Given the description of an element on the screen output the (x, y) to click on. 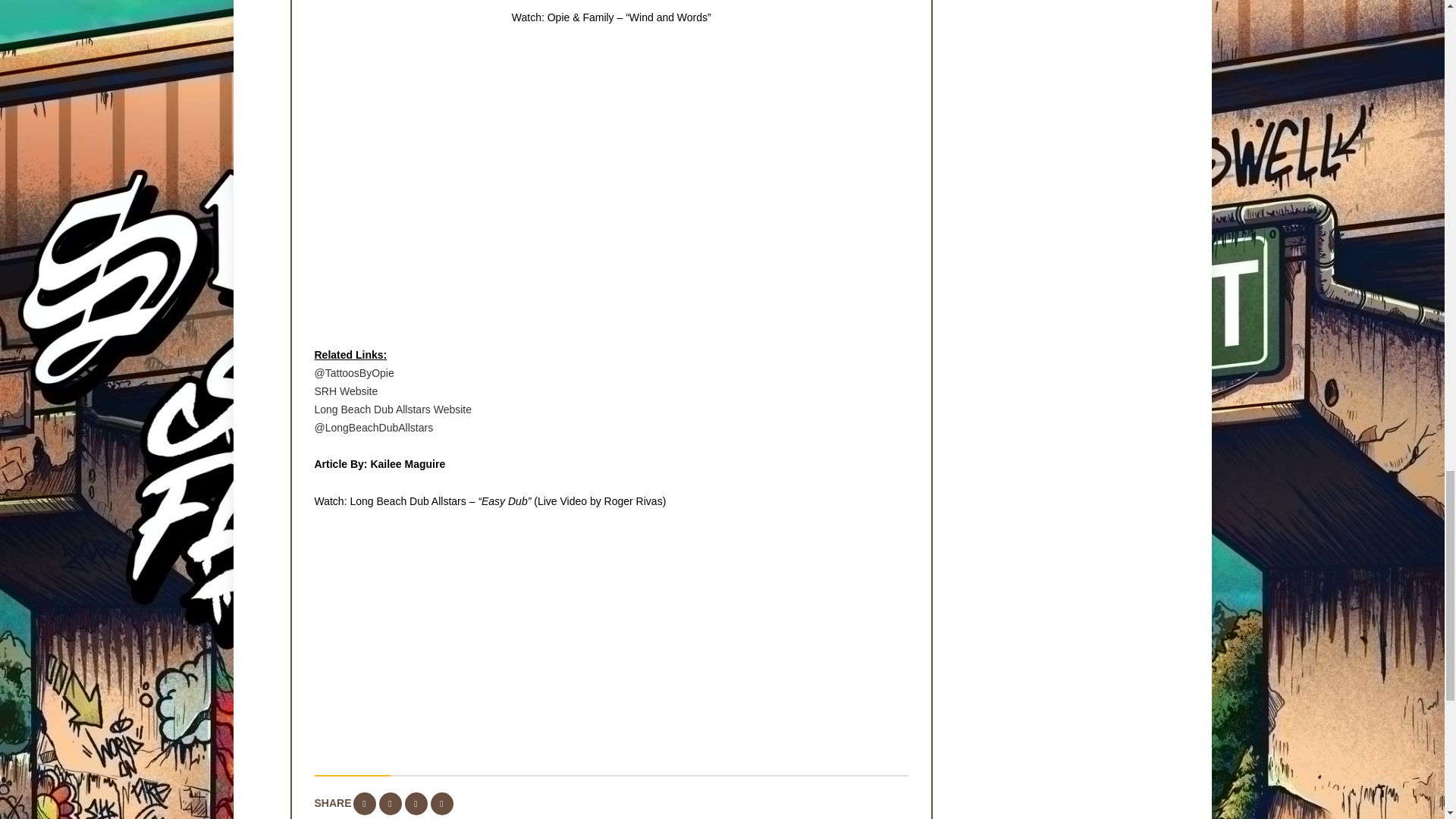
SRH Website (345, 390)
Long Beach Dub Allstars Website (392, 409)
